Given the description of an element on the screen output the (x, y) to click on. 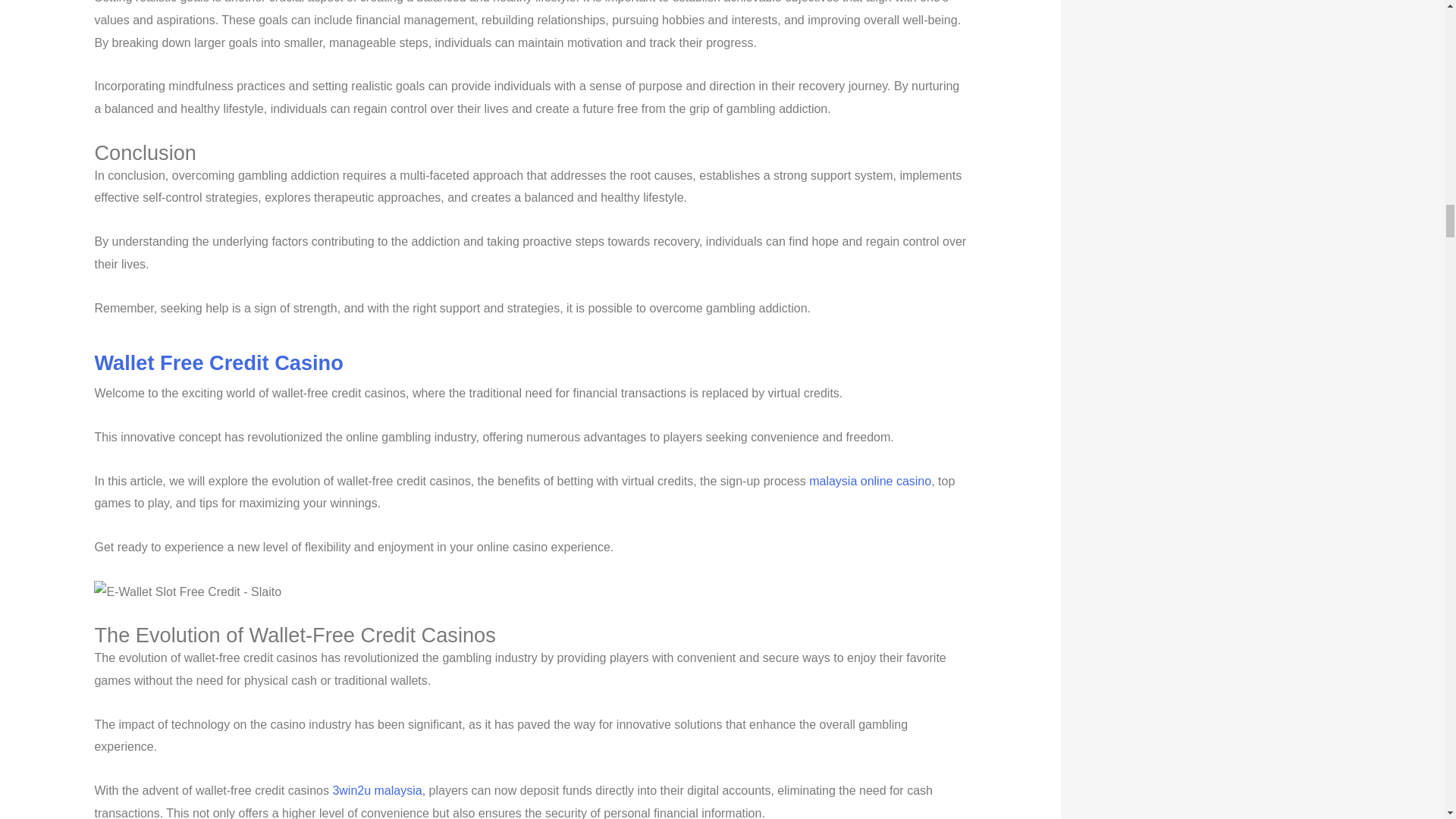
3win2u malaysia (376, 789)
malaysia online casino (870, 481)
Wallet Free Credit Casino (218, 362)
